Given the description of an element on the screen output the (x, y) to click on. 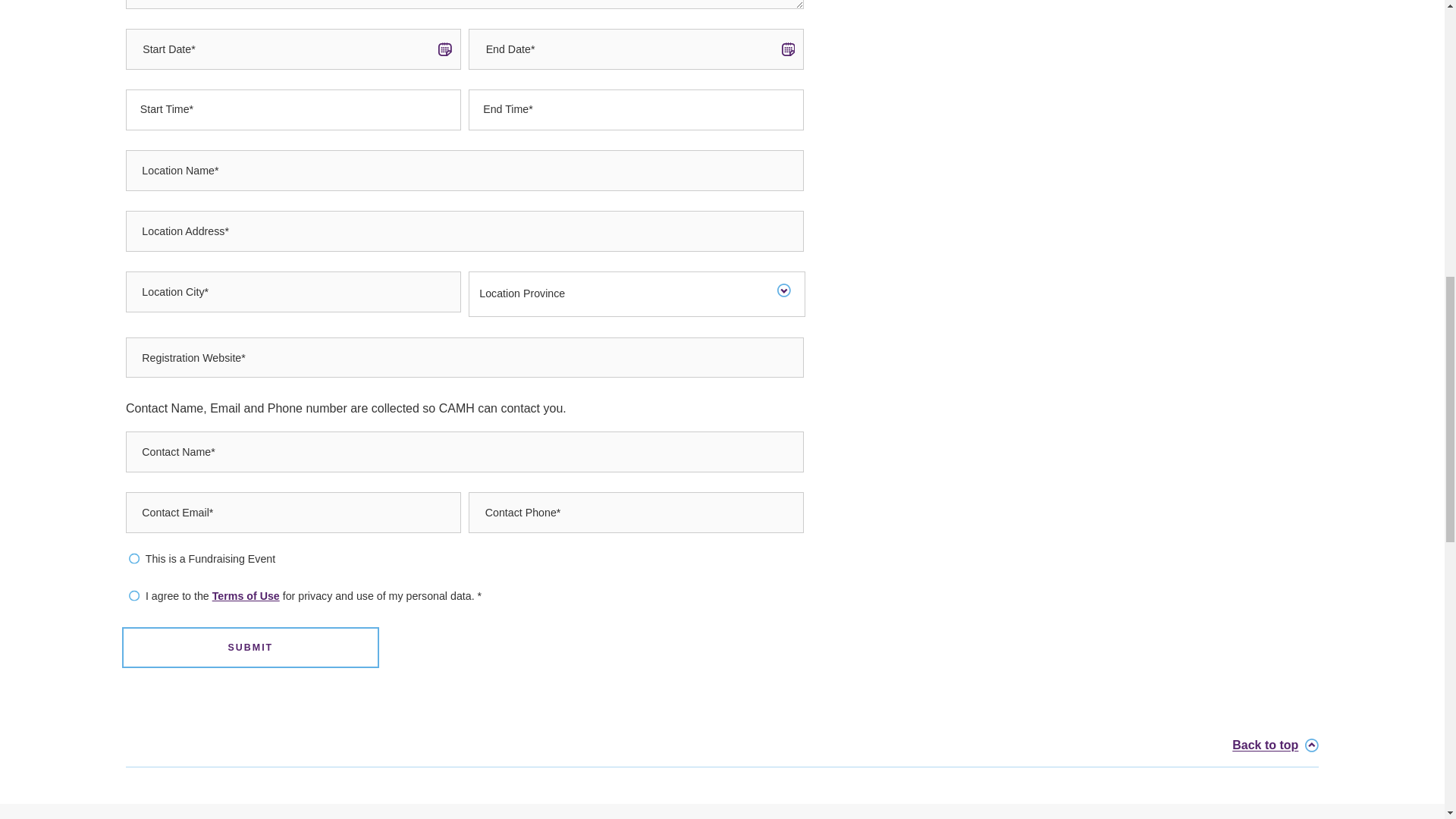
format: DD-MM-YYYY (635, 48)
format: DD-MM-YYYY (293, 48)
